Given the description of an element on the screen output the (x, y) to click on. 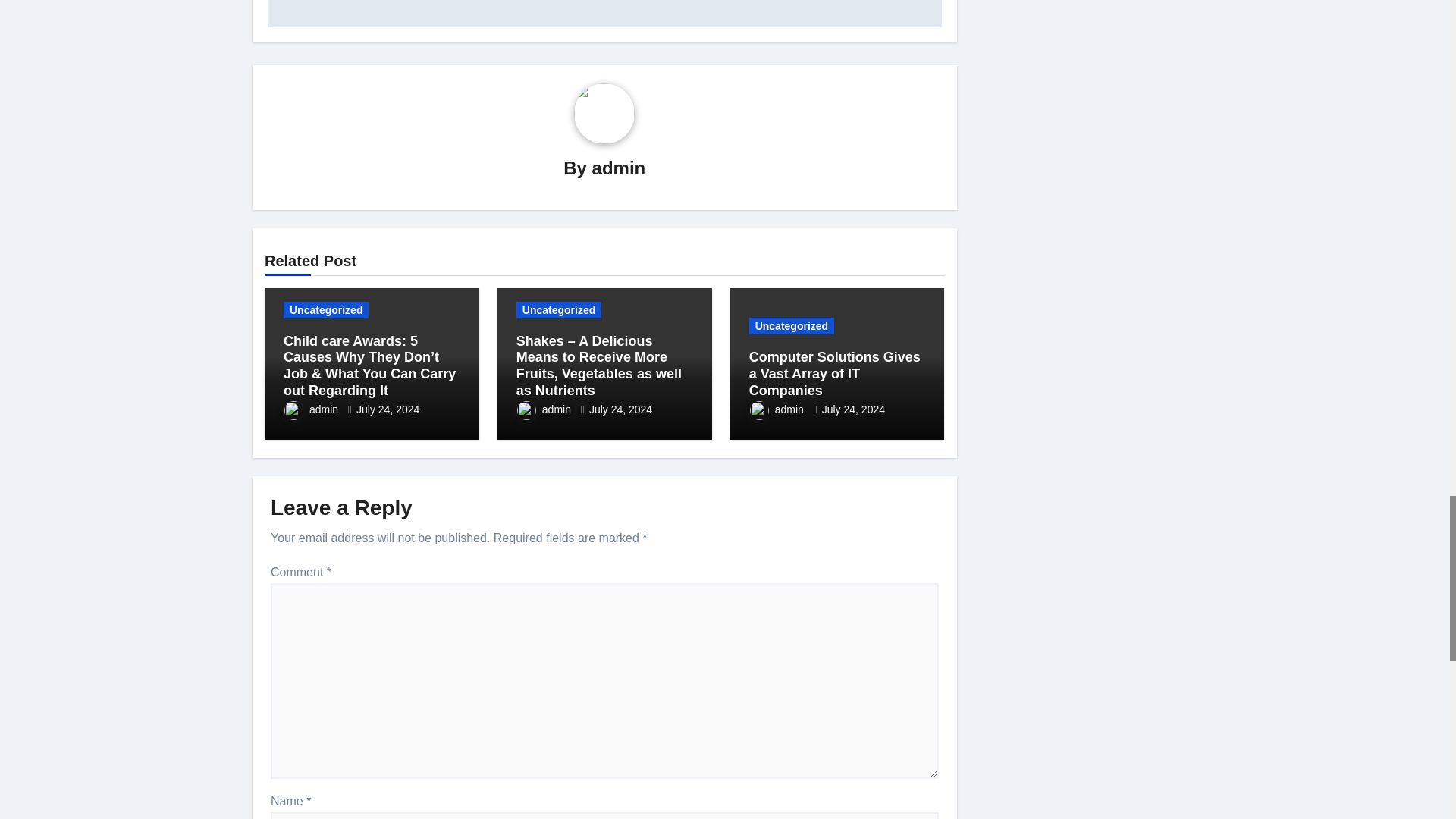
admin (619, 168)
admin (311, 409)
July 24, 2024 (387, 409)
Uncategorized (325, 310)
